Given the description of an element on the screen output the (x, y) to click on. 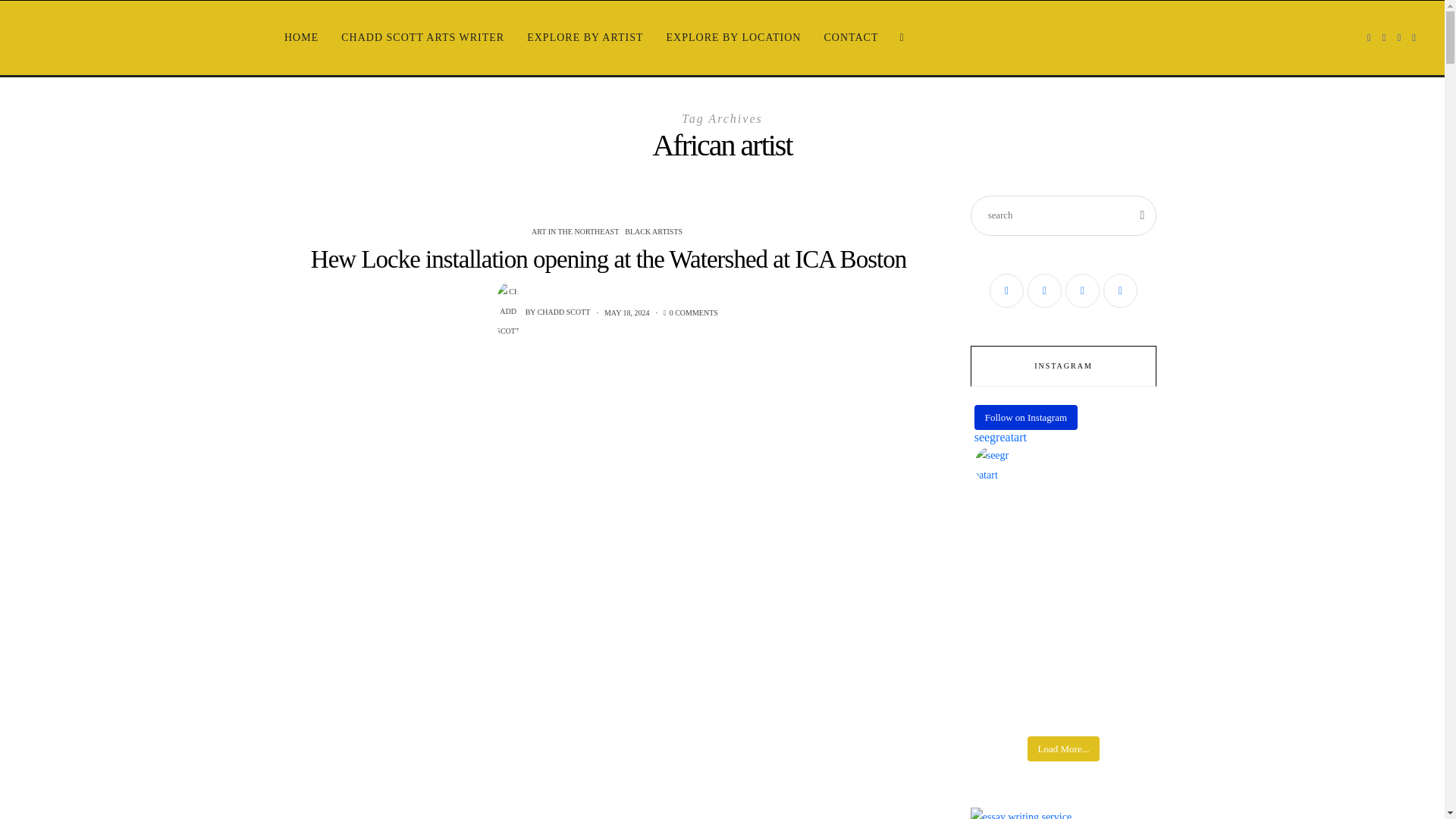
Posts by Chadd Scott (564, 312)
HOME (301, 37)
CONTACT (850, 37)
CHADD SCOTT ARTS WRITER (422, 37)
Posts by Chadd Scott (507, 311)
ART IN THE NORTHEAST (576, 231)
EXPLORE BY LOCATION (733, 37)
EXPLORE BY ARTIST (584, 37)
